Given the description of an element on the screen output the (x, y) to click on. 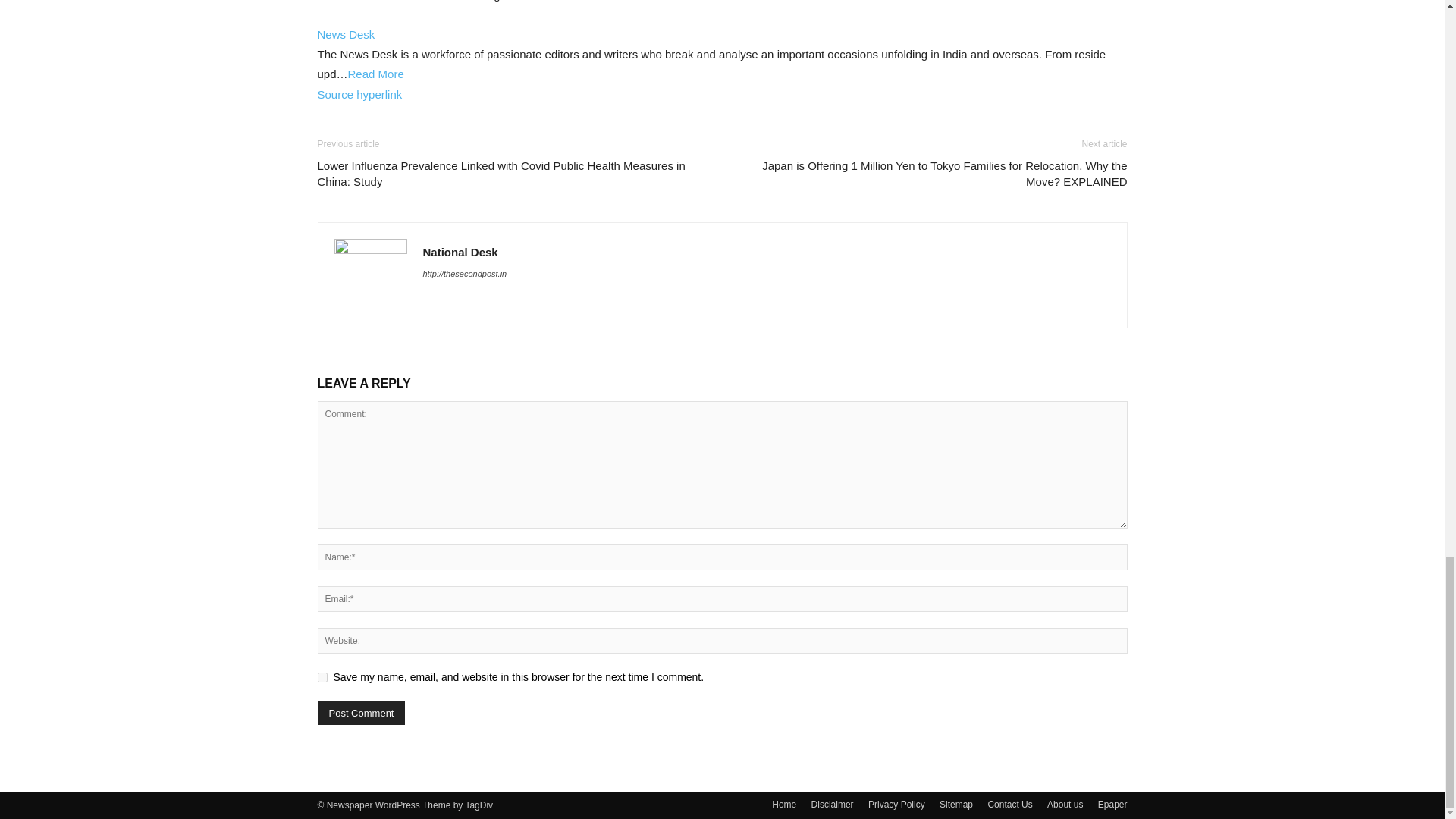
Post Comment (360, 712)
yes (321, 677)
